Given the description of an element on the screen output the (x, y) to click on. 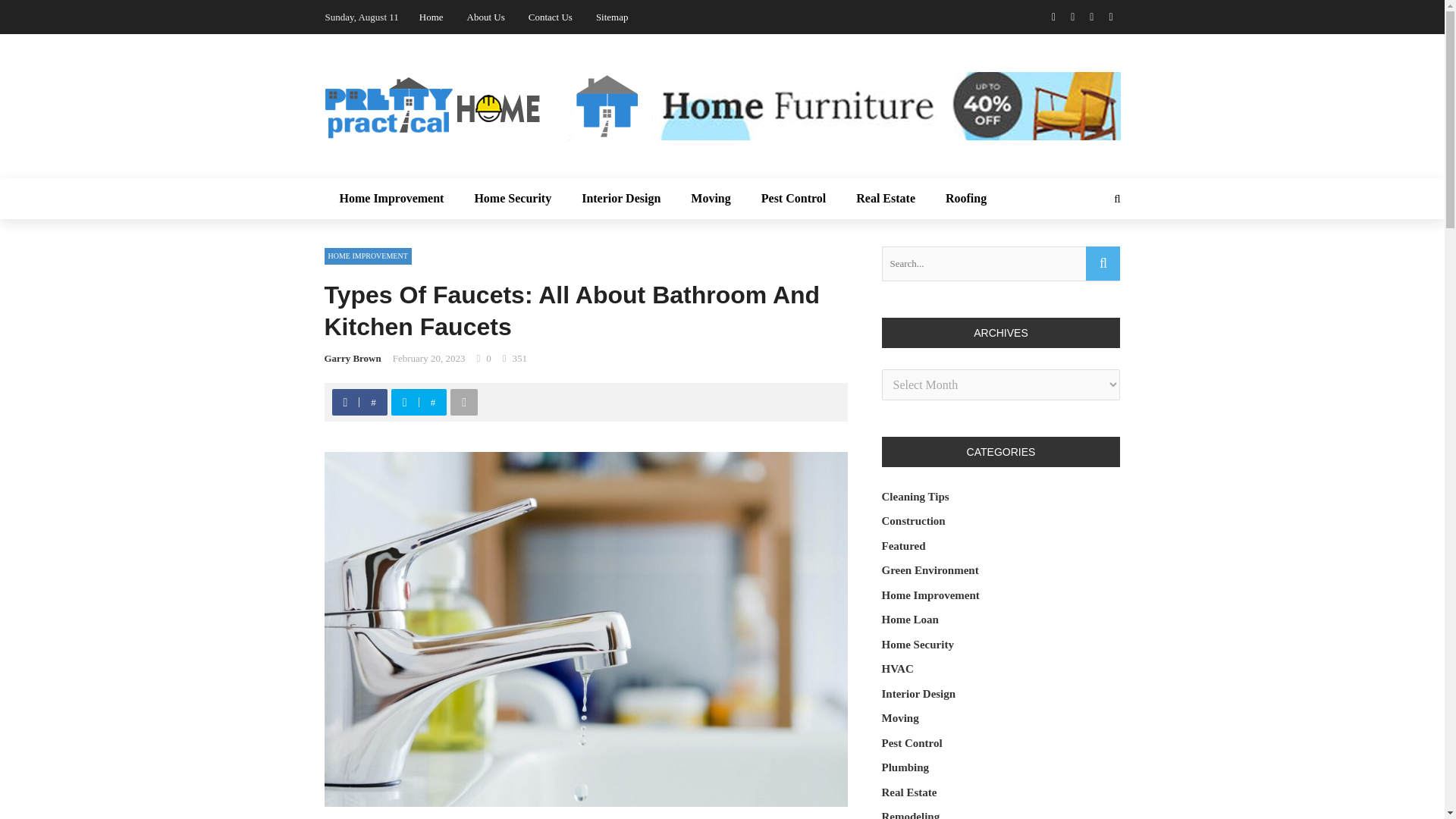
Pest Control (793, 198)
About Us (486, 16)
Contact Us (550, 16)
Sitemap (611, 16)
HOME IMPROVEMENT (368, 256)
Garry Brown (352, 357)
Real Estate (885, 198)
Home (431, 16)
Roofing (965, 198)
Interior Design (620, 198)
